Given the description of an element on the screen output the (x, y) to click on. 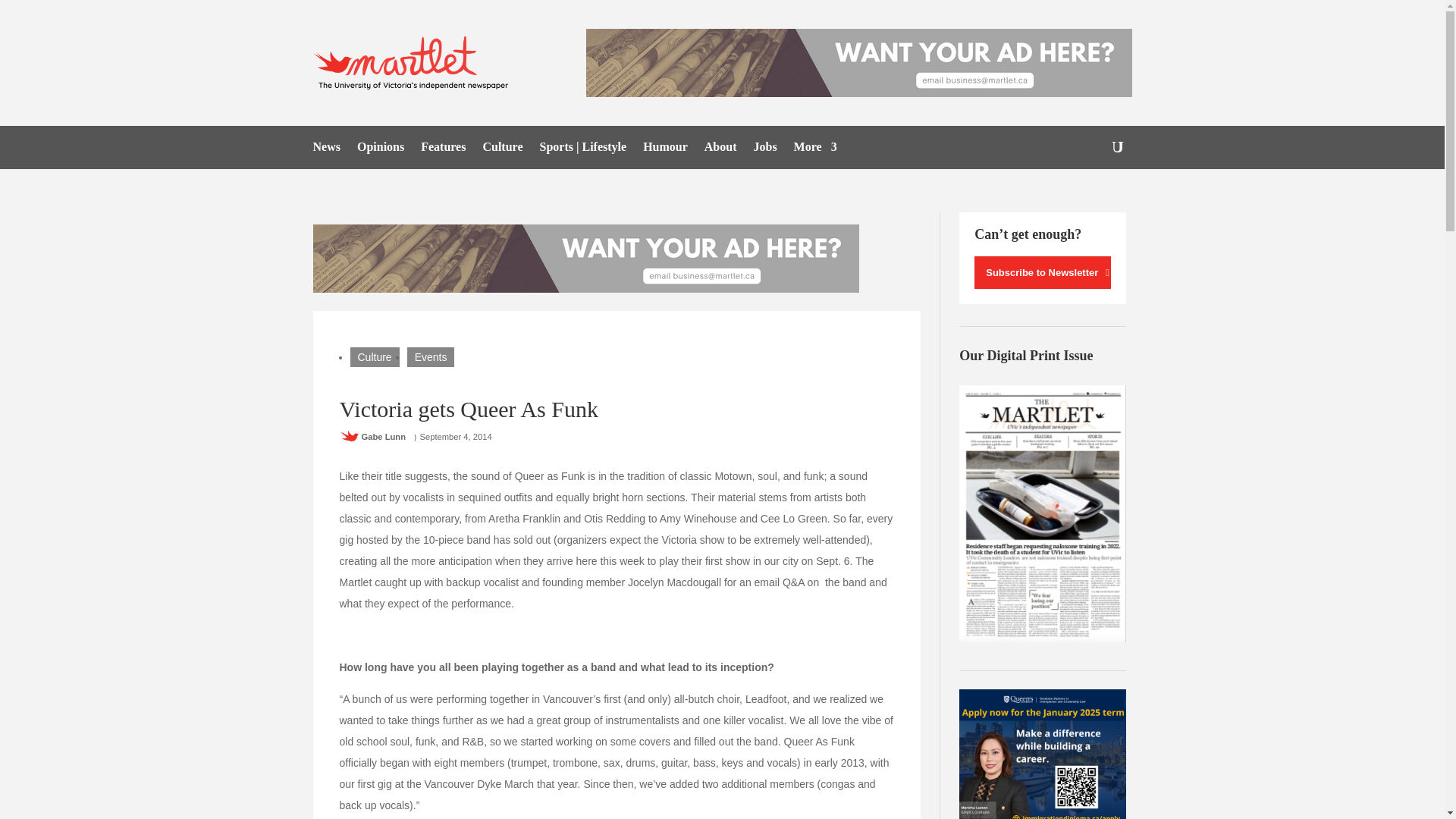
Events (430, 356)
Humour (665, 150)
Opinions (380, 150)
News (326, 150)
Jobs (764, 150)
Subscribe to Newsletter (1042, 272)
martlet-logo-2022 (414, 63)
About (720, 150)
Culture (374, 356)
Culture (501, 150)
More (815, 150)
Features (442, 150)
